Given the description of an element on the screen output the (x, y) to click on. 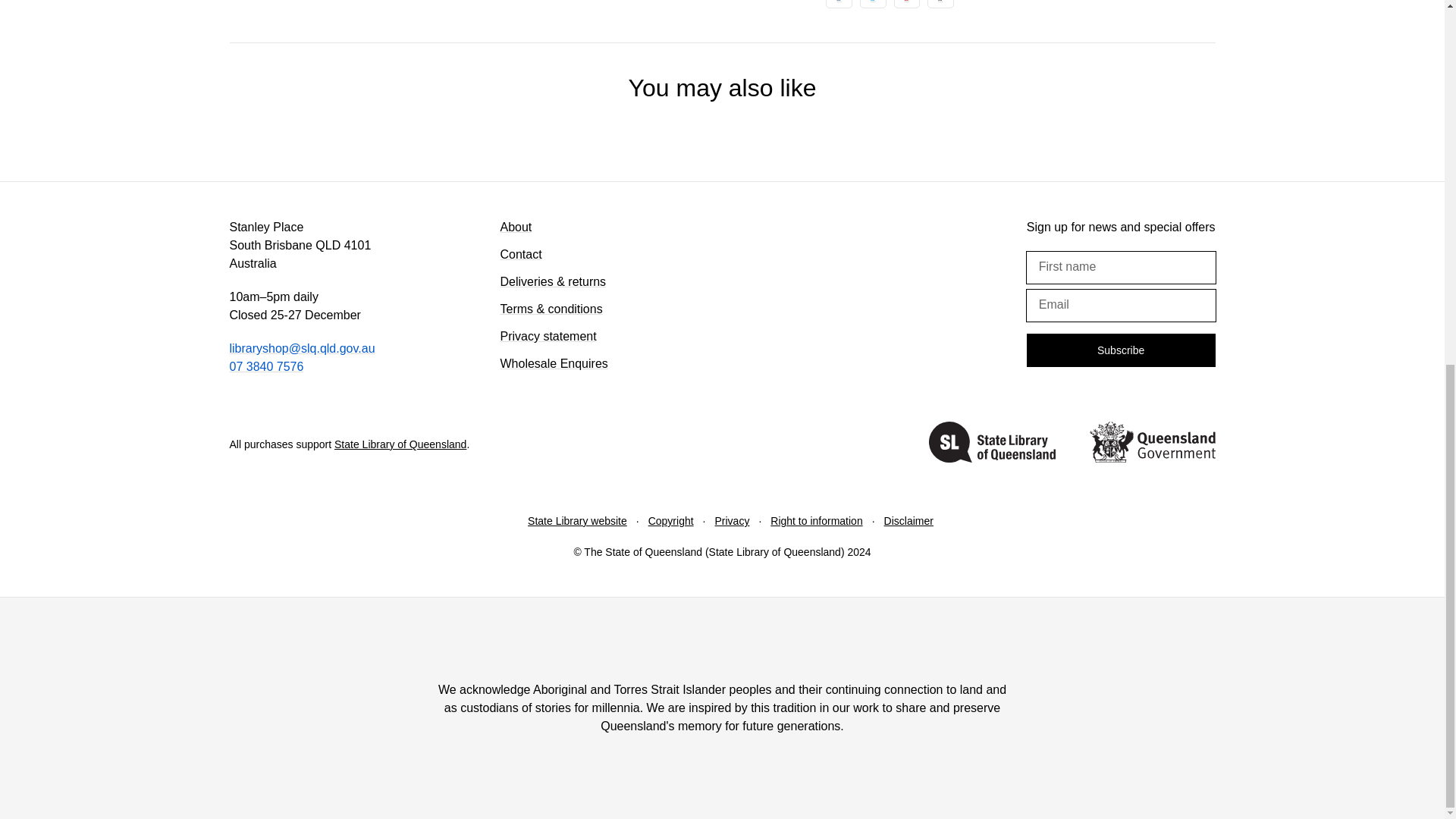
Go to Queensland Government homepage (1151, 444)
tel:07 3840 7576 (265, 366)
Go to Queensland State Library homepage (992, 444)
